Given the description of an element on the screen output the (x, y) to click on. 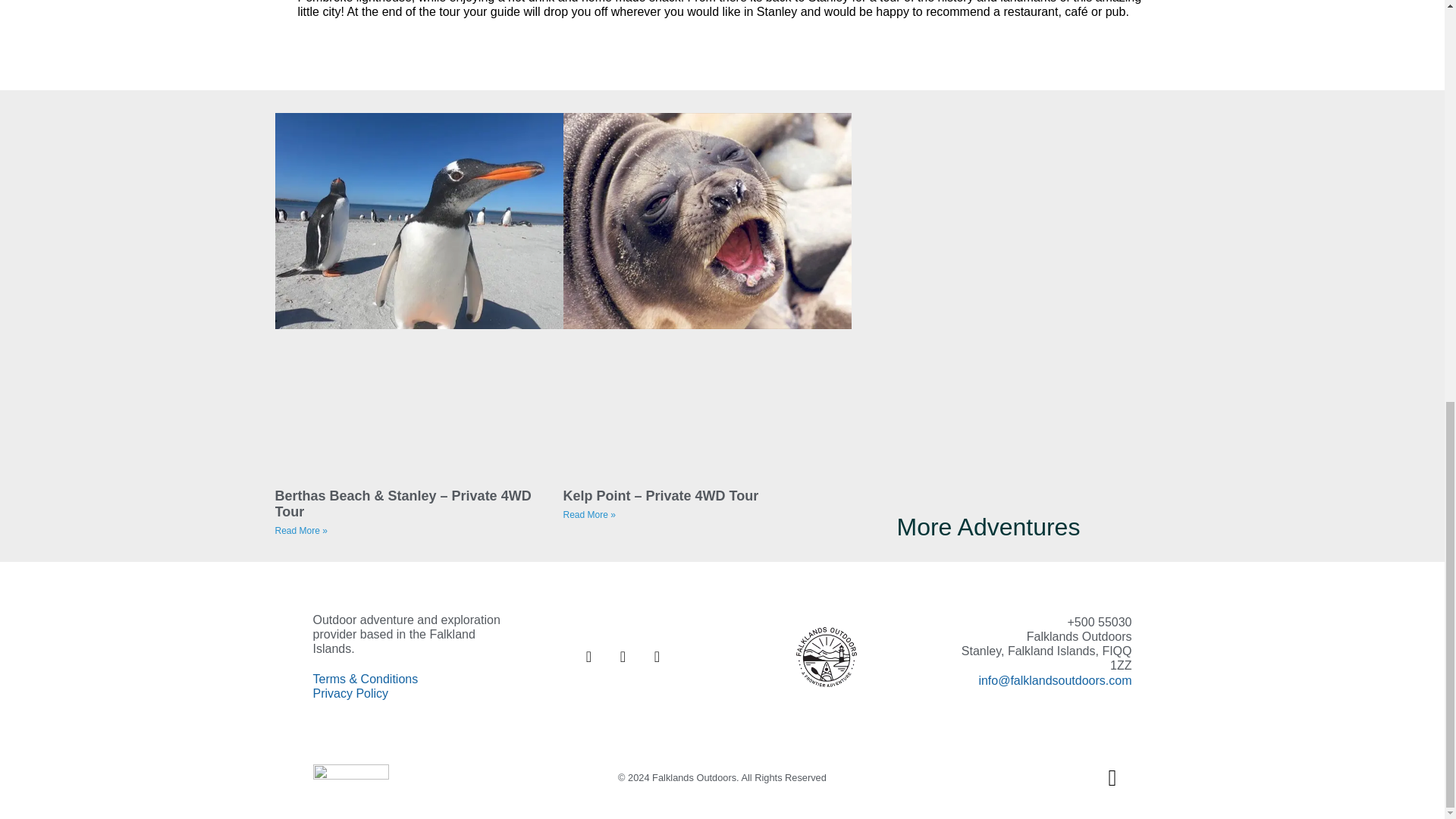
Privacy Policy (350, 693)
